Given the description of an element on the screen output the (x, y) to click on. 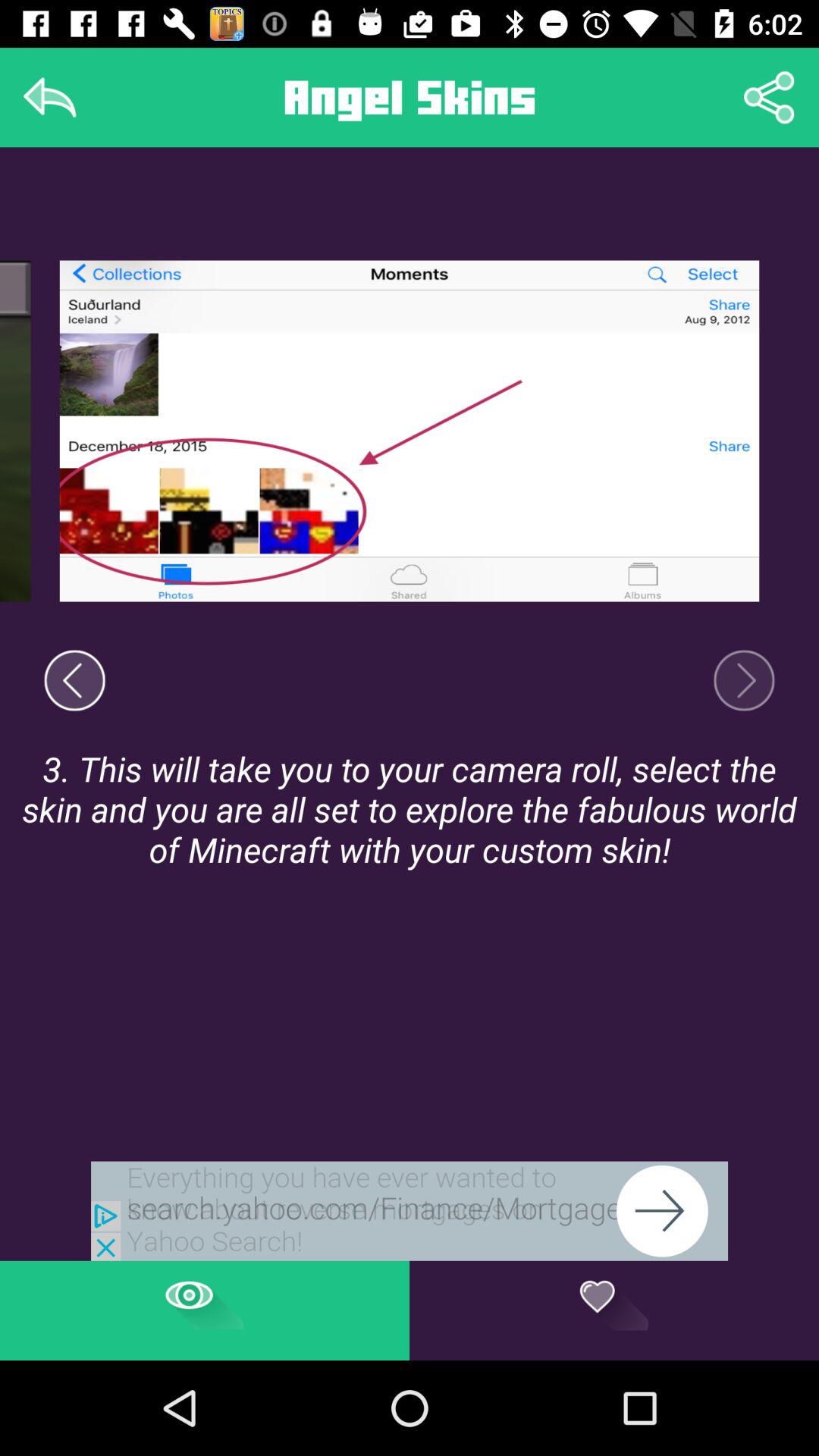
share (769, 97)
